Given the description of an element on the screen output the (x, y) to click on. 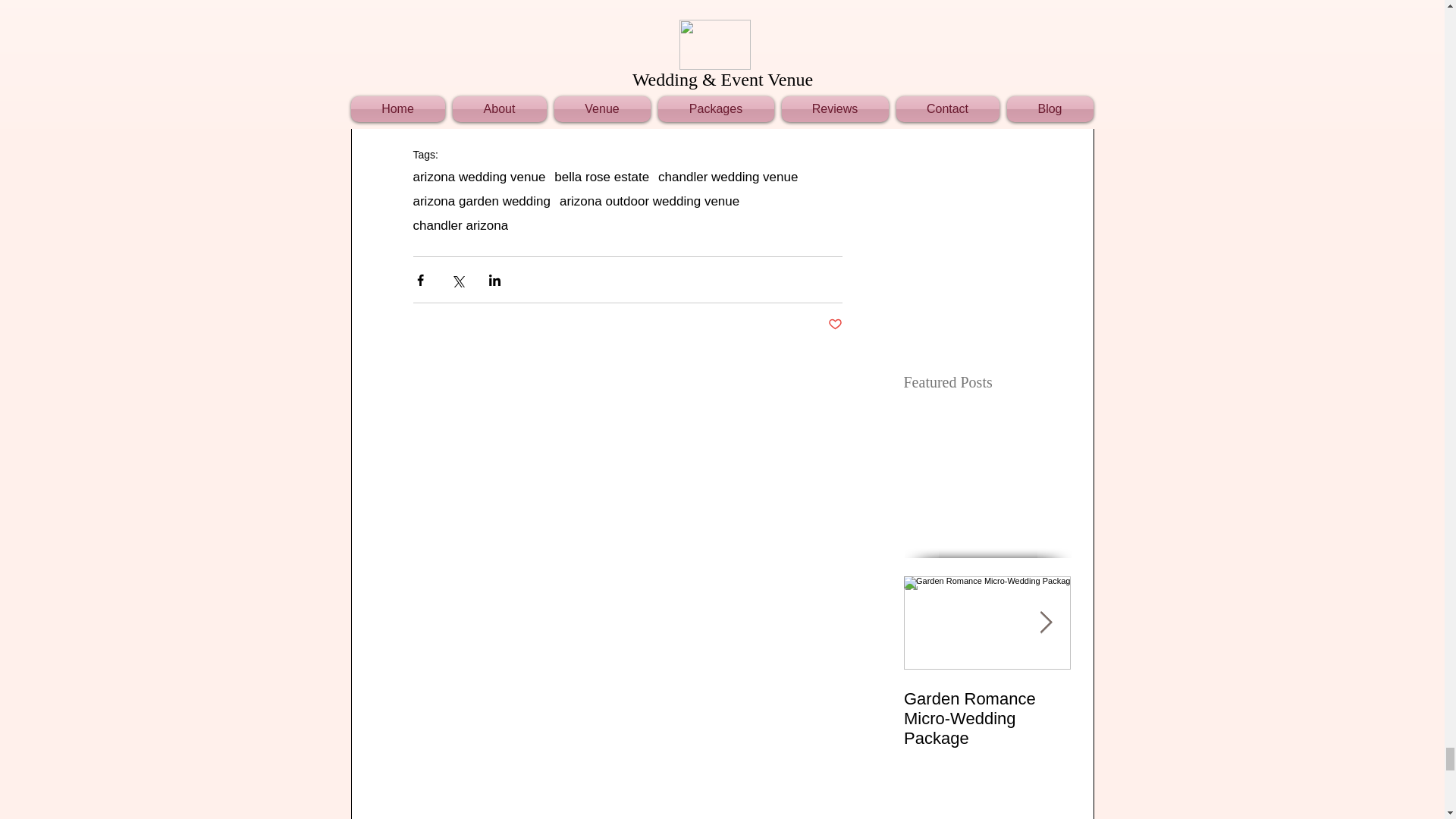
arizona wedding venue (478, 177)
bella rose estate (601, 177)
chandler arizona (460, 225)
Post not marked as liked (835, 324)
arizona garden wedding (481, 201)
chandler wedding venue (727, 177)
Garden Romance Micro-Wedding Package (987, 718)
arizona outdoor wedding venue (649, 201)
